Given the description of an element on the screen output the (x, y) to click on. 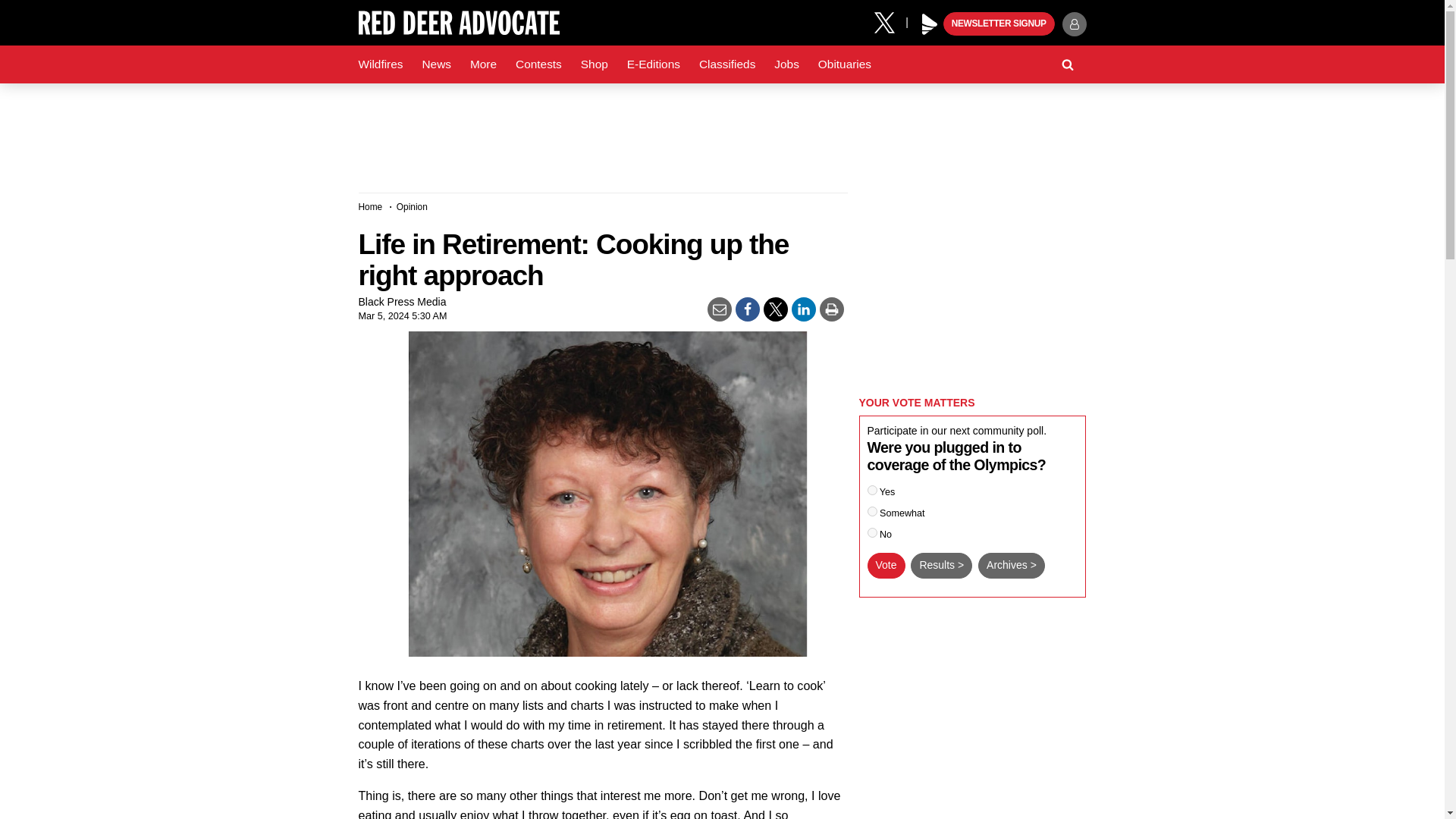
Black Press Media (929, 24)
Play (929, 24)
273 (872, 511)
272 (872, 490)
274 (872, 532)
News (435, 64)
Wildfires (380, 64)
X (889, 21)
NEWSLETTER SIGNUP (998, 24)
